Given the description of an element on the screen output the (x, y) to click on. 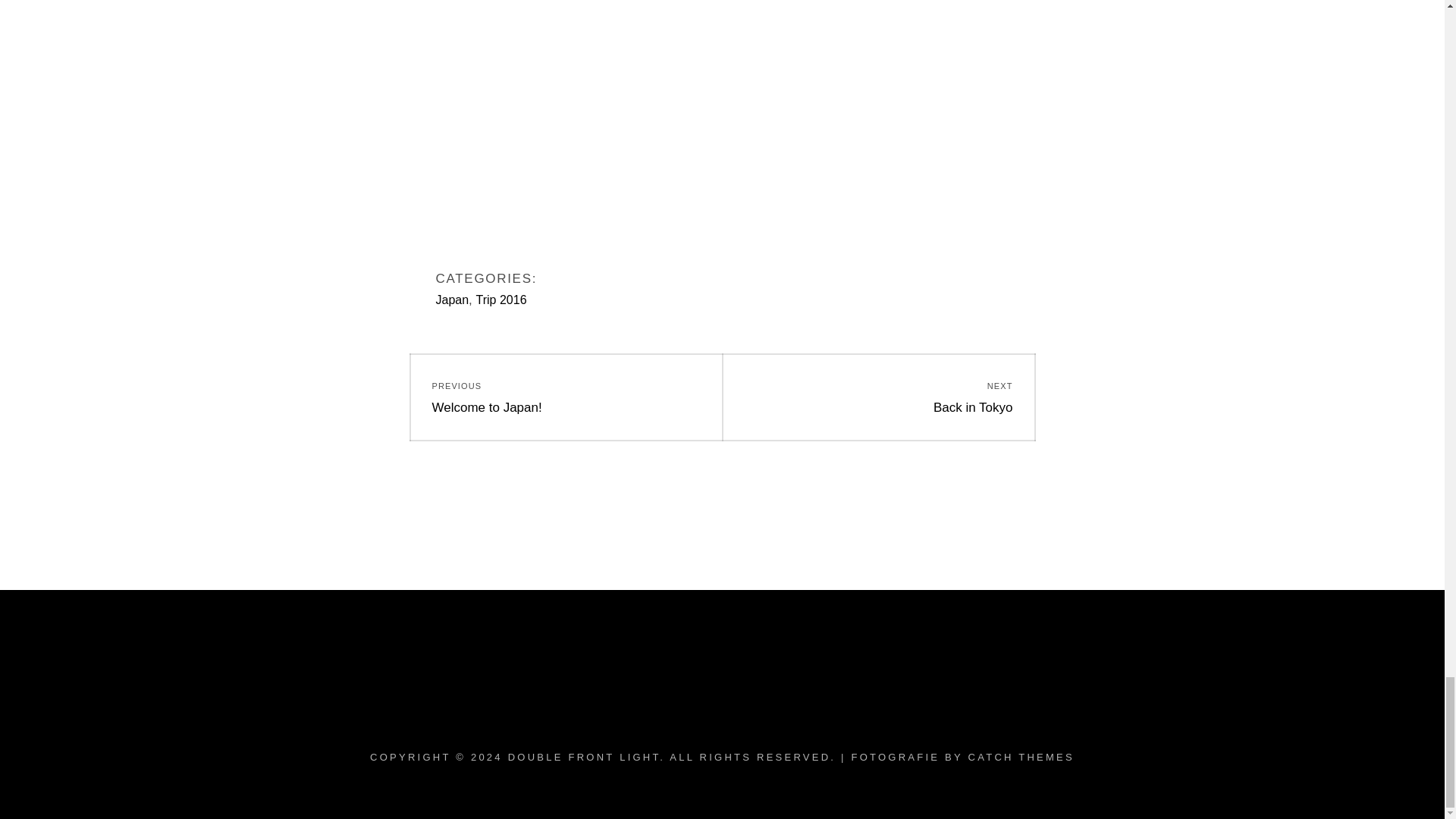
DOUBLE FRONT LIGHT (584, 756)
CATCH THEMES (1021, 756)
Japan (878, 396)
Trip 2016 (451, 299)
